Given the description of an element on the screen output the (x, y) to click on. 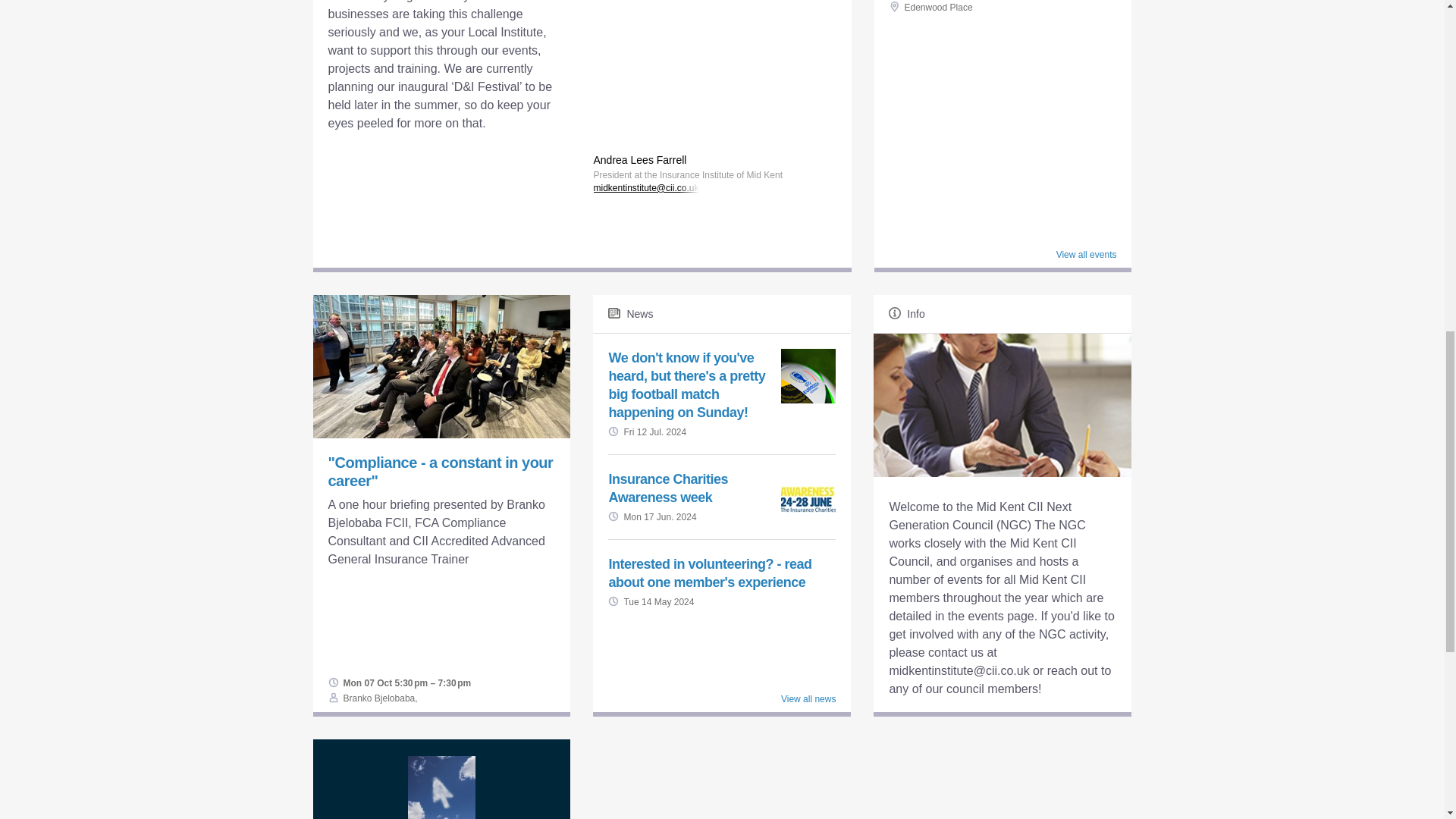
View all events (1086, 254)
